Given the description of an element on the screen output the (x, y) to click on. 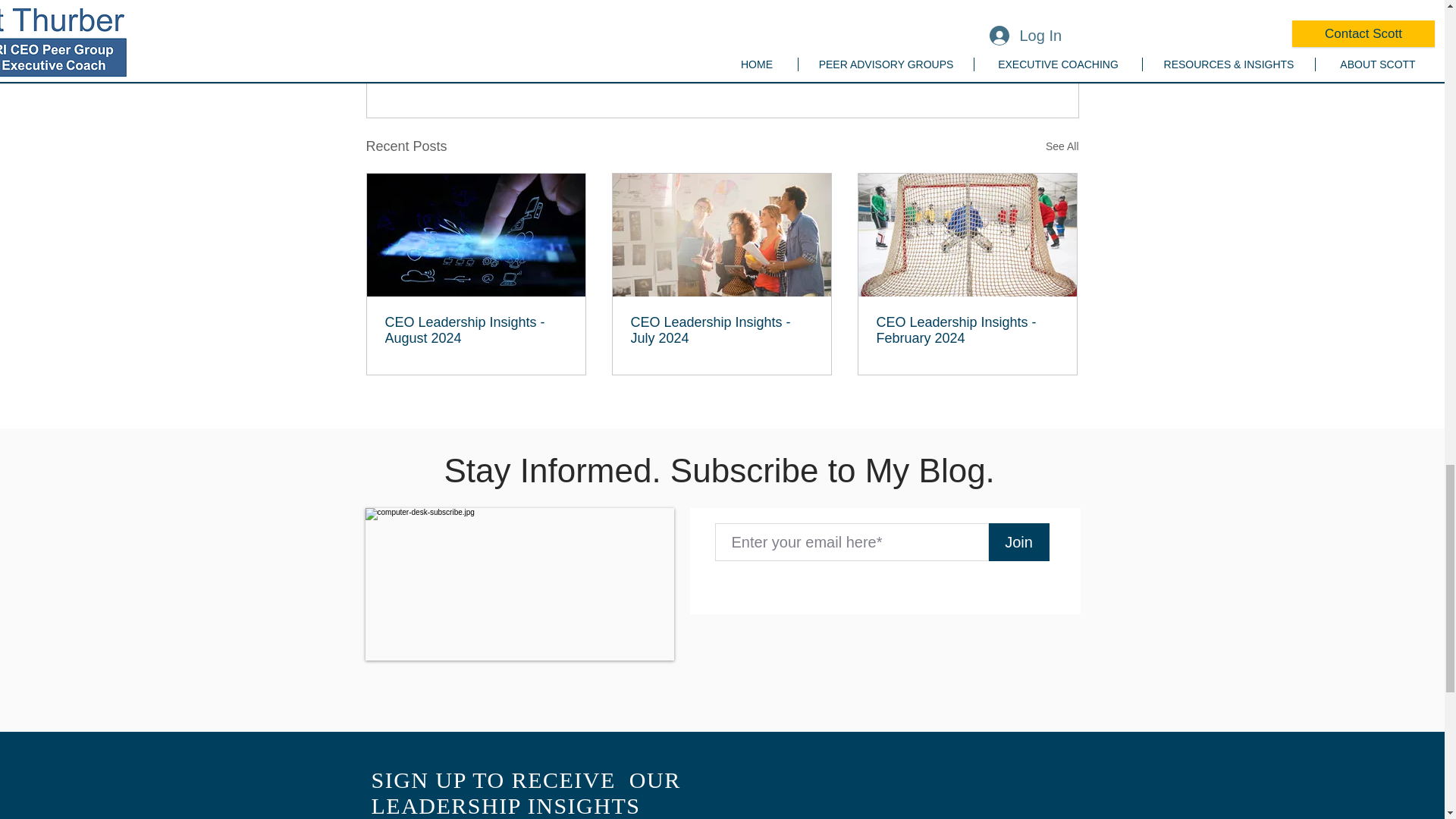
See All (1061, 146)
Join (1018, 542)
CEO Leadership Insights - August 2024 (476, 330)
CEO Leadership Insights - July 2024 (721, 330)
CEO Leadership Insights - February 2024 (967, 330)
